Given the description of an element on the screen output the (x, y) to click on. 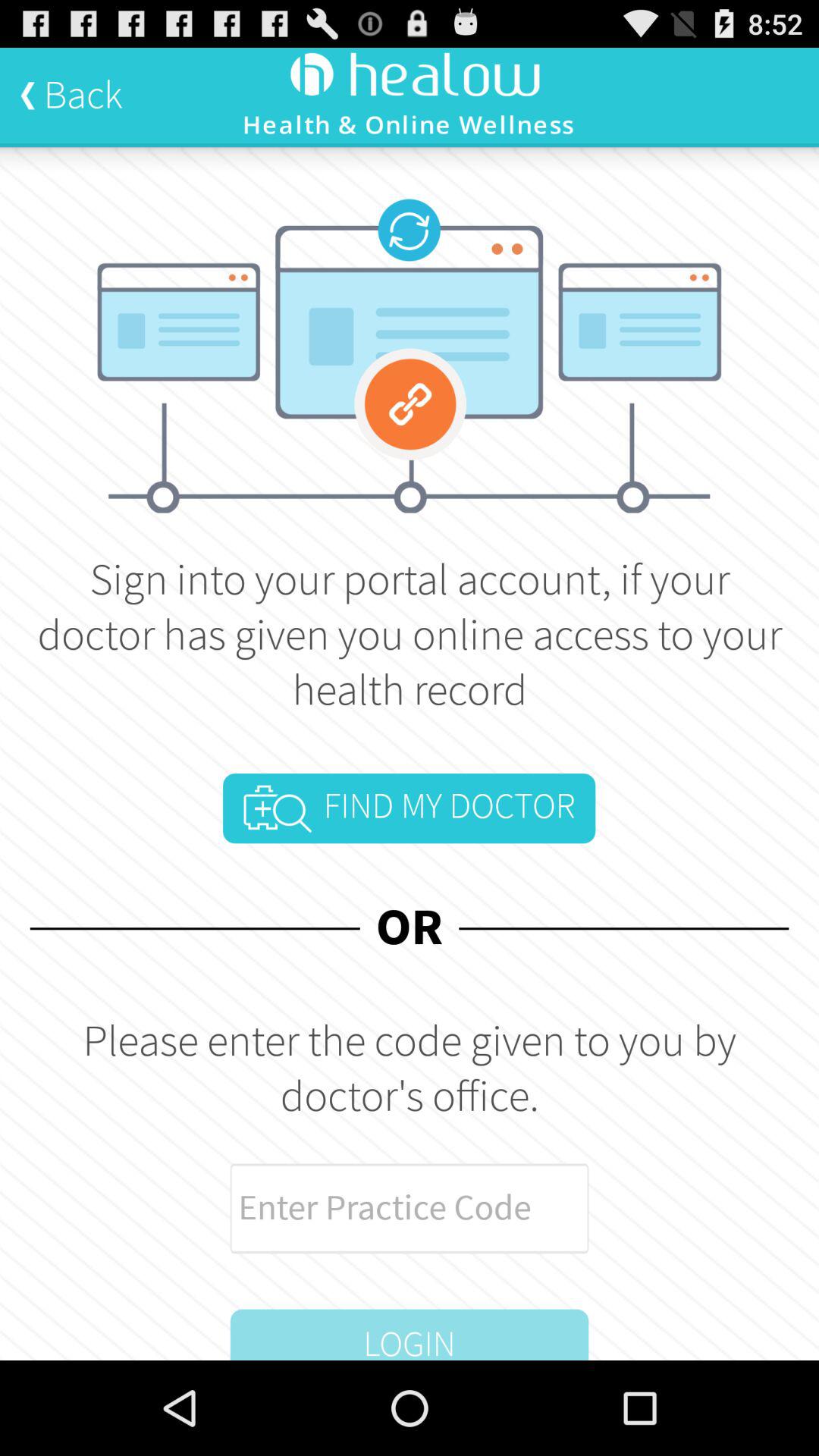
press item below the please enter the (409, 1208)
